Given the description of an element on the screen output the (x, y) to click on. 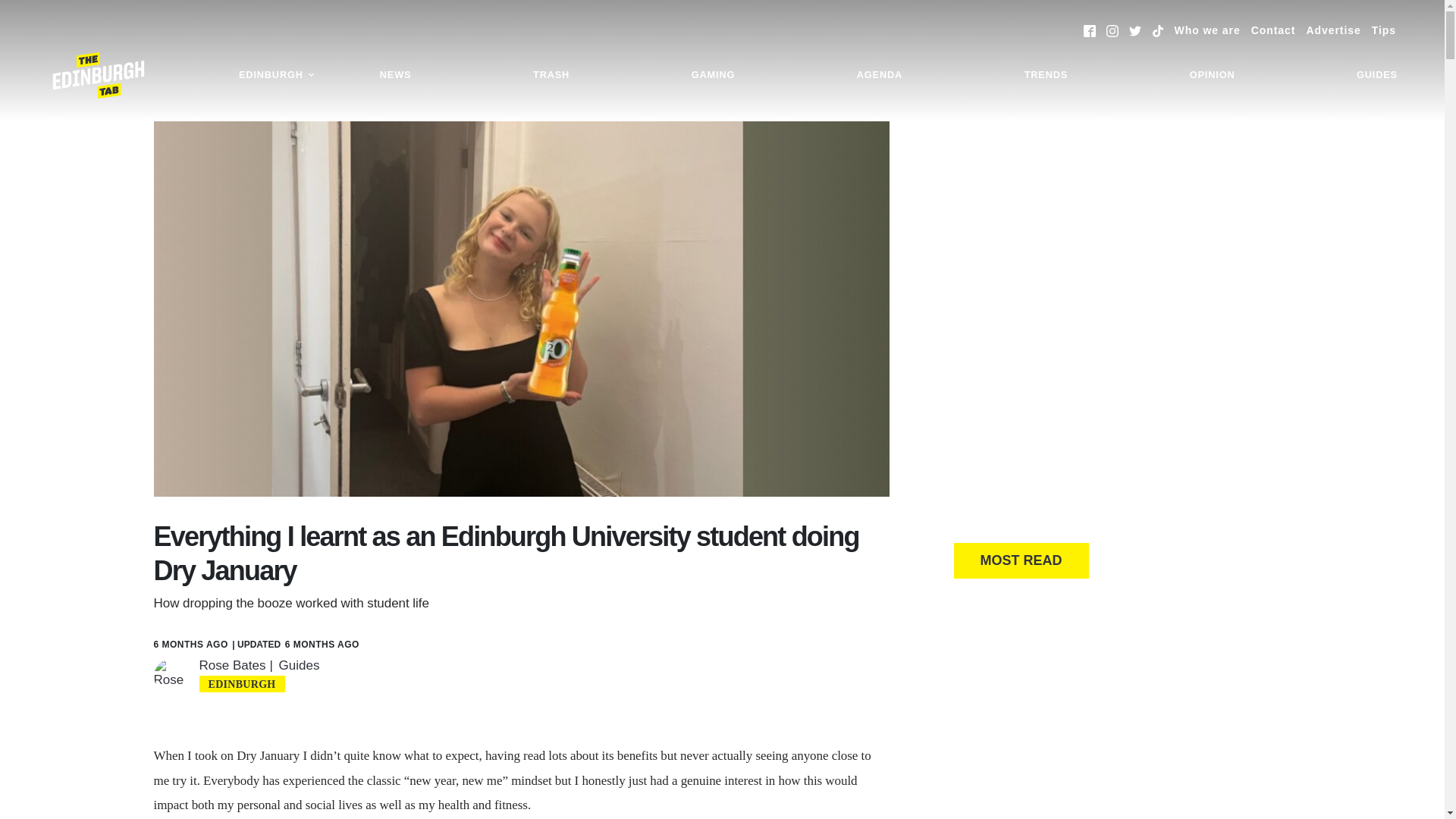
Contact (1272, 29)
Who we are (1207, 29)
EDINBURGH (276, 75)
OPINION (1211, 75)
TRENDS (1045, 75)
GAMING (712, 75)
TRASH (550, 75)
Advertise (1332, 29)
Tips (1383, 29)
GUIDES (1377, 75)
NEWS (395, 75)
AGENDA (879, 75)
